Given the description of an element on the screen output the (x, y) to click on. 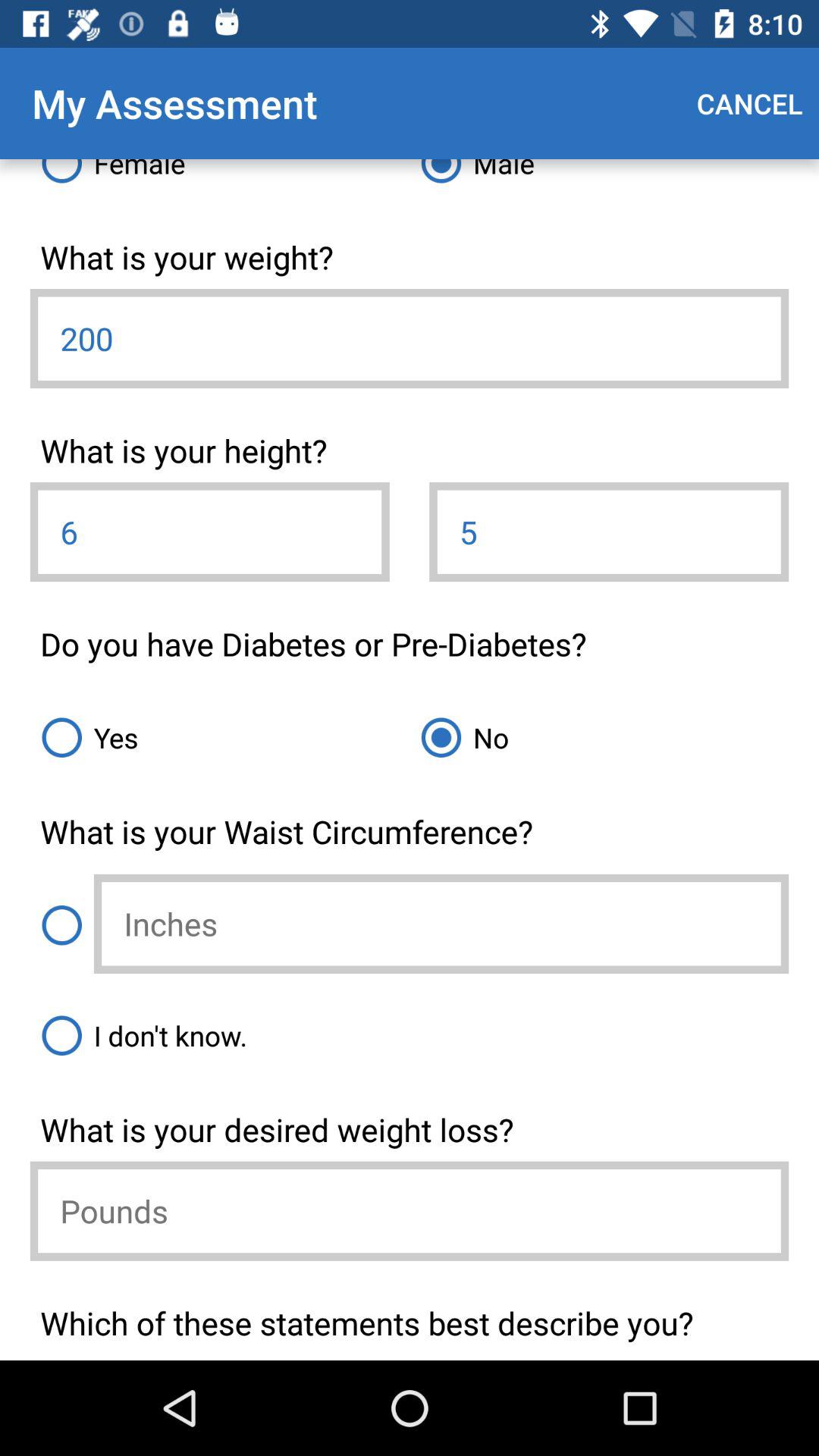
choose item above the male (749, 103)
